Given the description of an element on the screen output the (x, y) to click on. 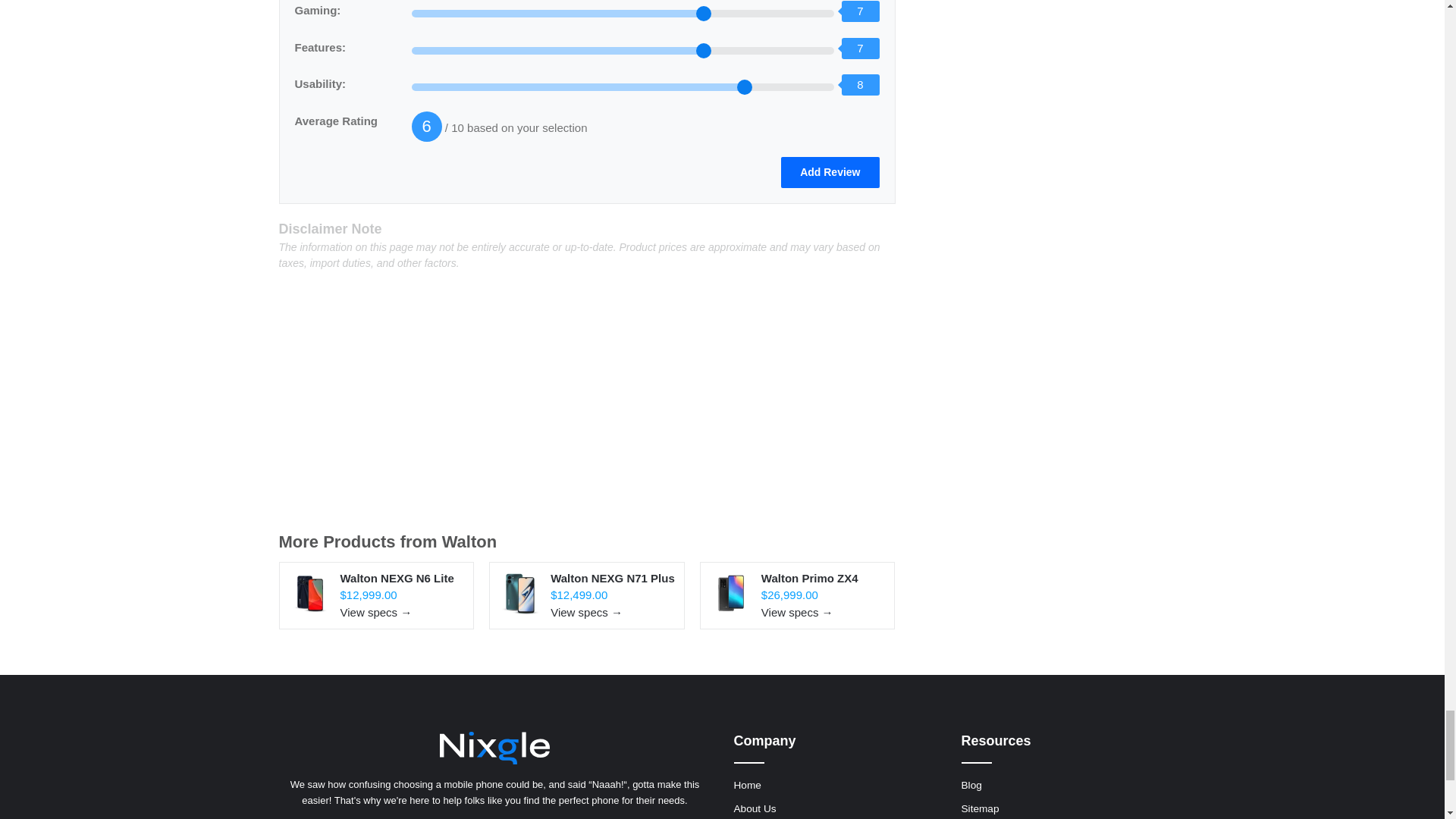
Add Review (829, 172)
8 (623, 86)
7 (623, 13)
7 (623, 50)
